Given the description of an element on the screen output the (x, y) to click on. 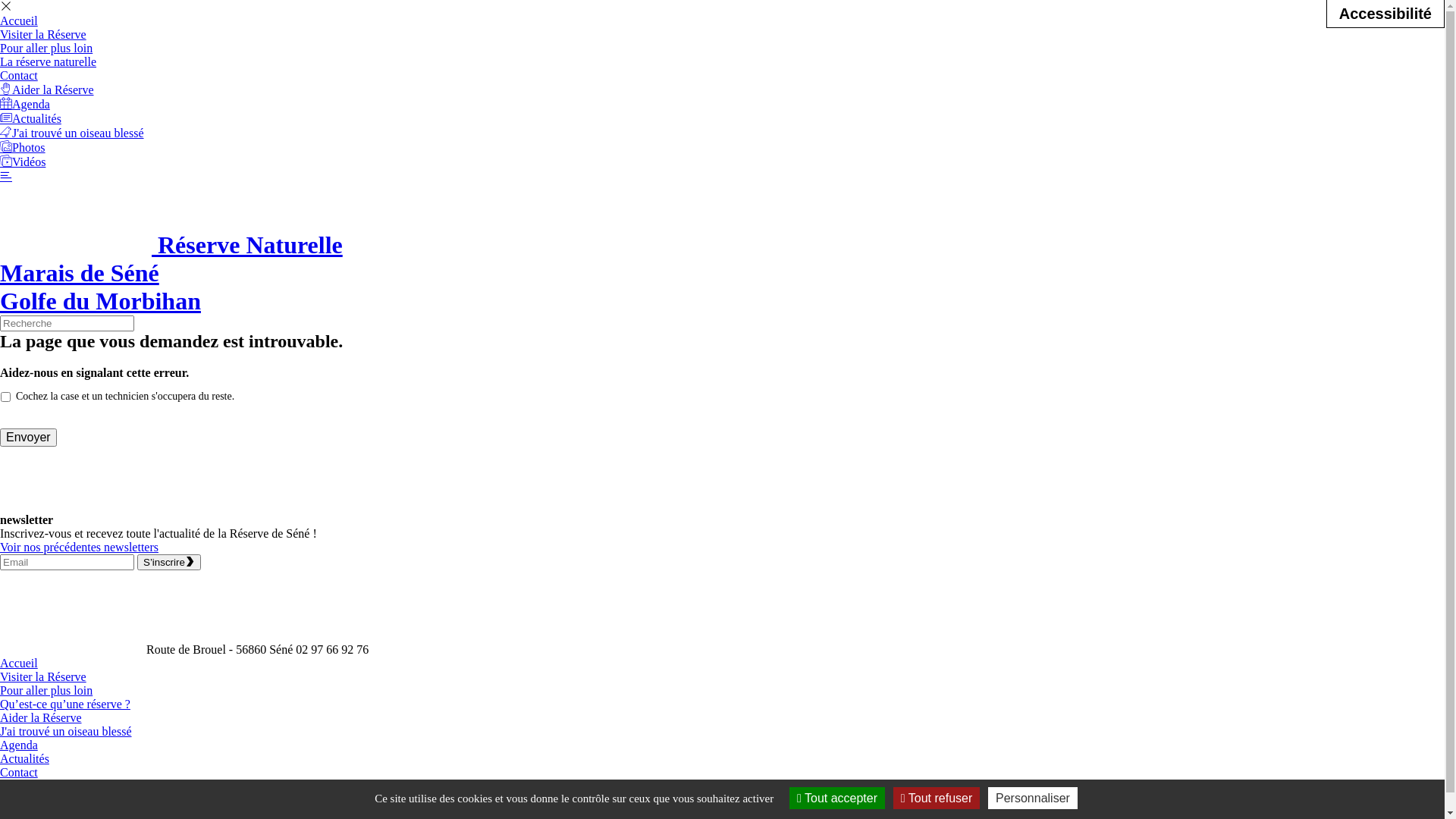
Accueil Element type: text (18, 20)
Agenda Element type: text (25, 103)
Agenda Element type: text (18, 744)
Tout accepter Element type: text (836, 798)
Tout refuser Element type: text (936, 798)
Personnaliser Element type: text (1032, 798)
Photos Element type: text (22, 147)
Pour aller plus loin Element type: text (46, 47)
Contact Element type: text (18, 771)
Accueil Element type: text (18, 662)
Contact Element type: text (18, 75)
Envoyer Element type: text (28, 437)
Photos Element type: text (16, 785)
Pour aller plus loin Element type: text (46, 690)
